Given the description of an element on the screen output the (x, y) to click on. 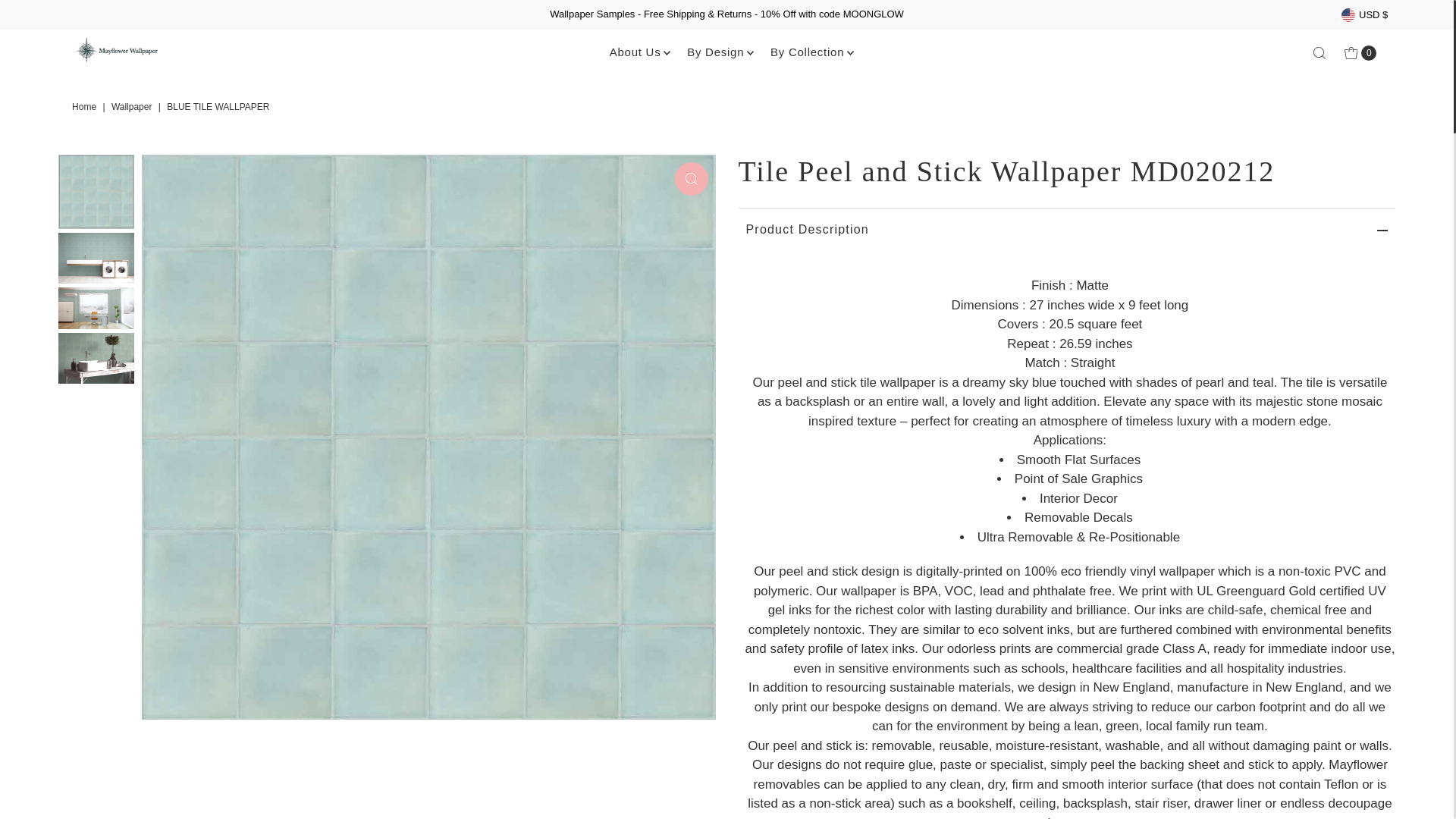
Skip to content (64, 18)
